Given the description of an element on the screen output the (x, y) to click on. 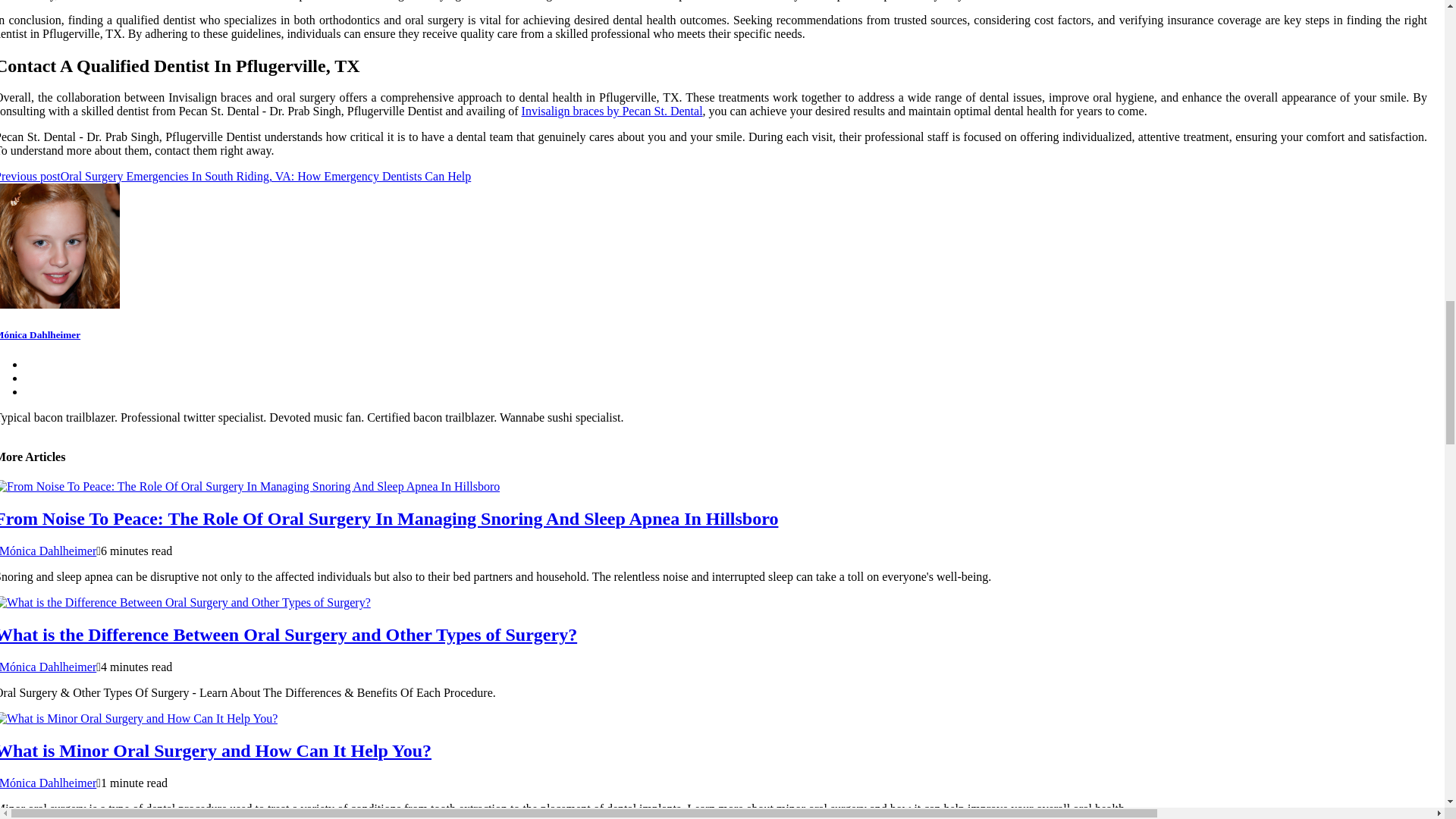
Invisalign braces by Pecan St. Dental (612, 110)
What is Minor Oral Surgery and How Can It Help You? (215, 750)
